Given the description of an element on the screen output the (x, y) to click on. 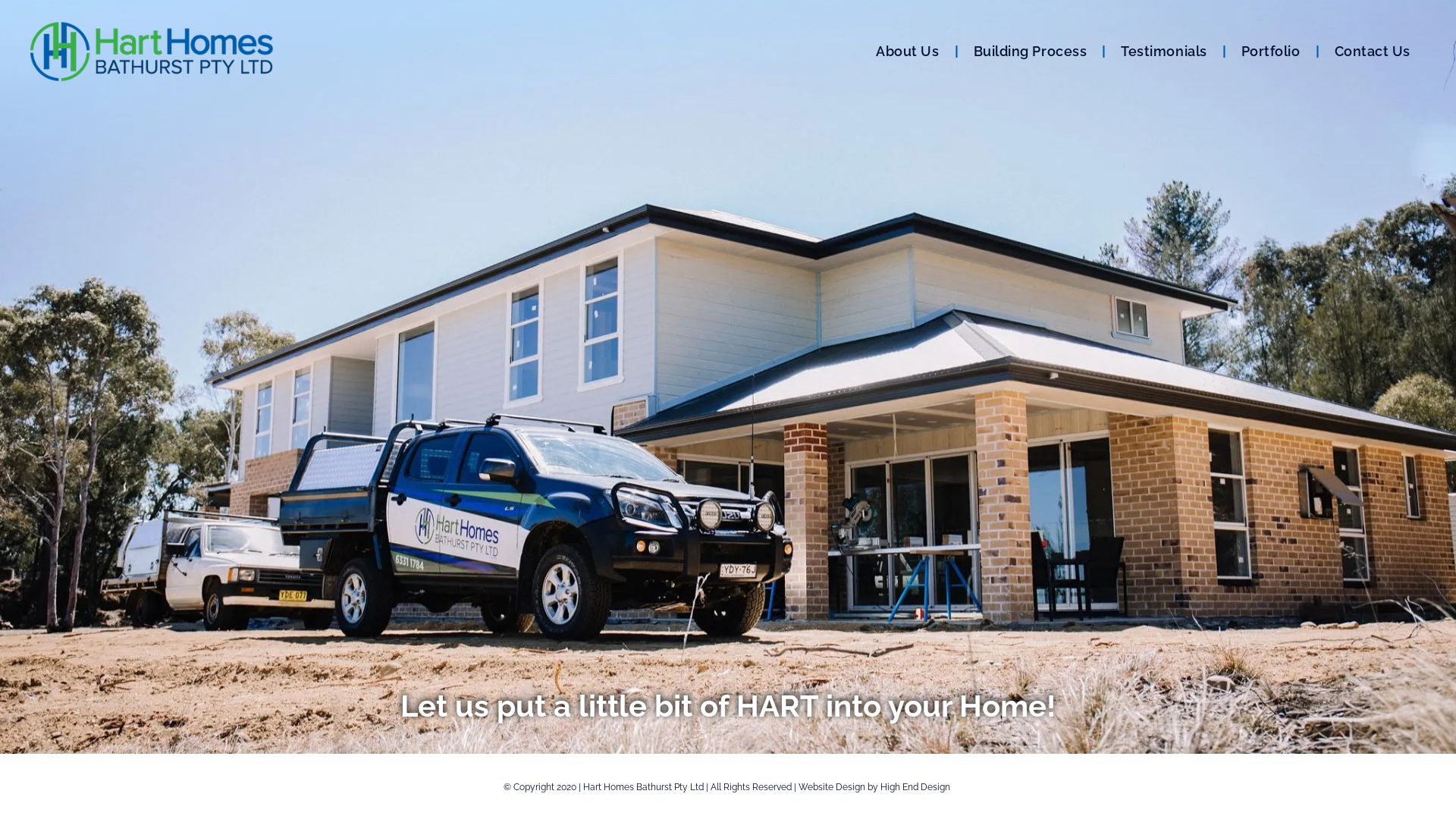
Hart Homes Bathurst Pty Ltd Element type: text (643, 786)
Portfolio Element type: text (1270, 51)
About Us Element type: text (906, 51)
Testimonials Element type: text (1163, 51)
Contact Us Element type: text (1372, 51)
High End Design Element type: text (915, 786)
Building Process Element type: text (1030, 51)
